Given the description of an element on the screen output the (x, y) to click on. 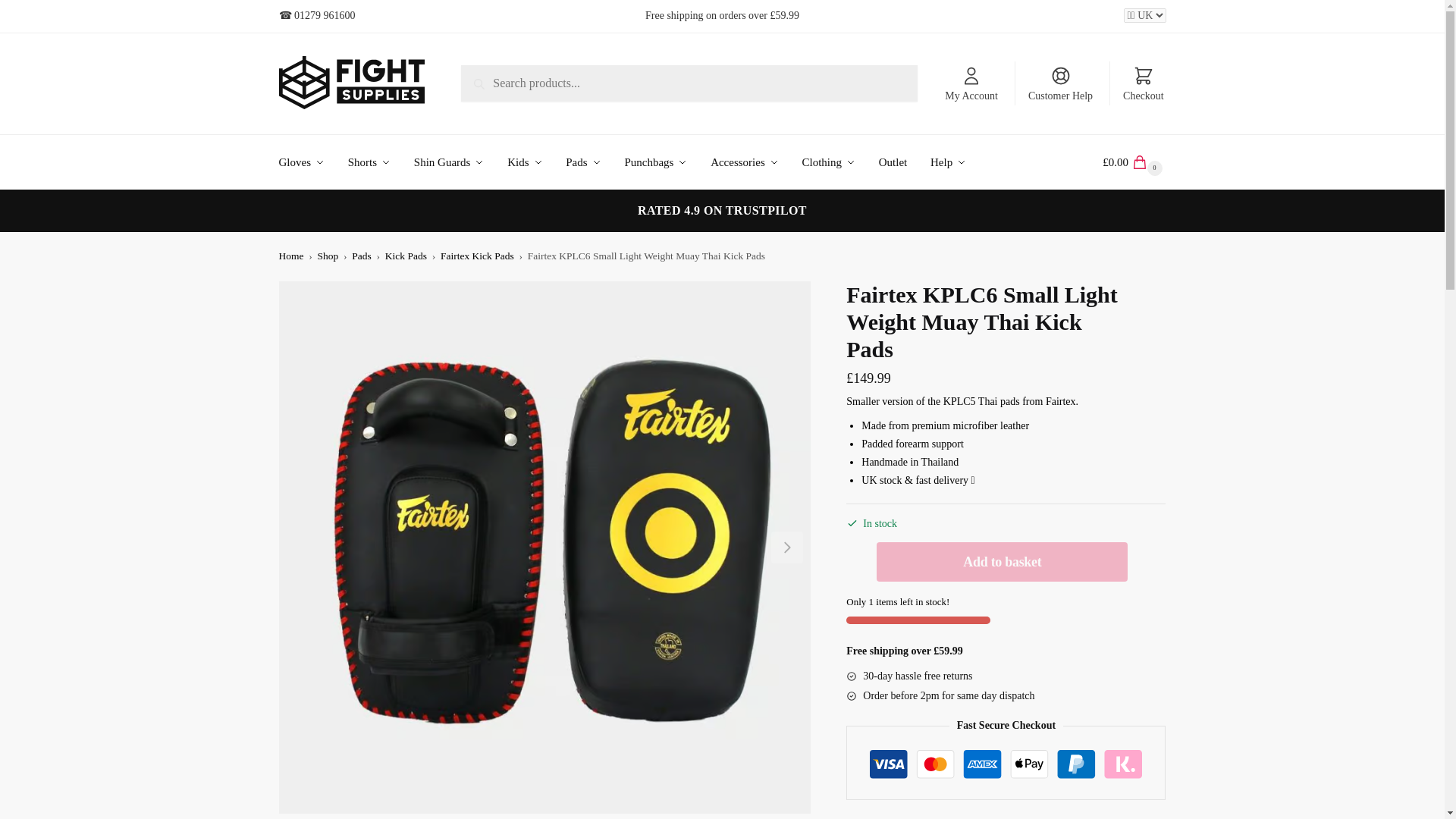
Gloves (309, 162)
View your shopping cart (1134, 162)
Shin Guards (452, 162)
Shorts (372, 162)
My Account (971, 83)
Customer Help (1060, 83)
Checkout (1143, 83)
